Given the description of an element on the screen output the (x, y) to click on. 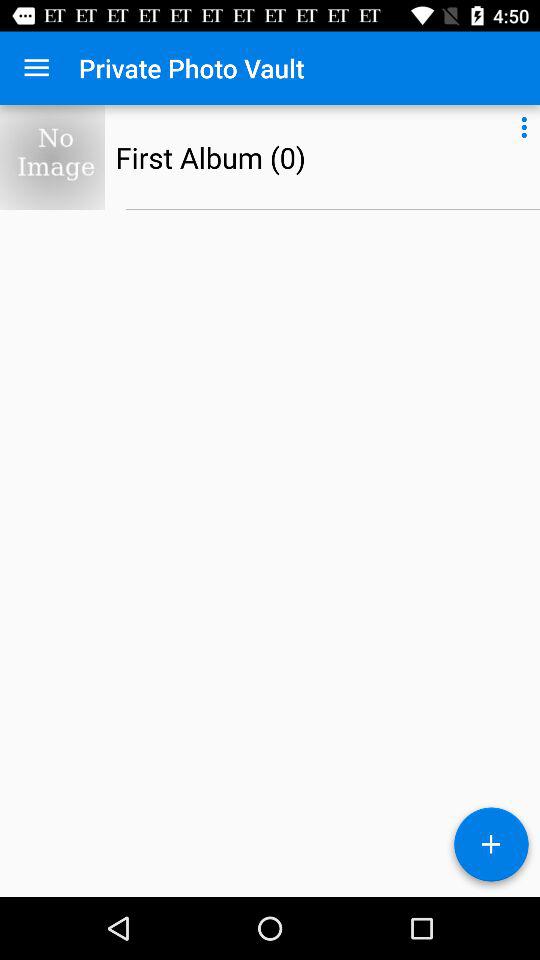
add album (491, 848)
